Given the description of an element on the screen output the (x, y) to click on. 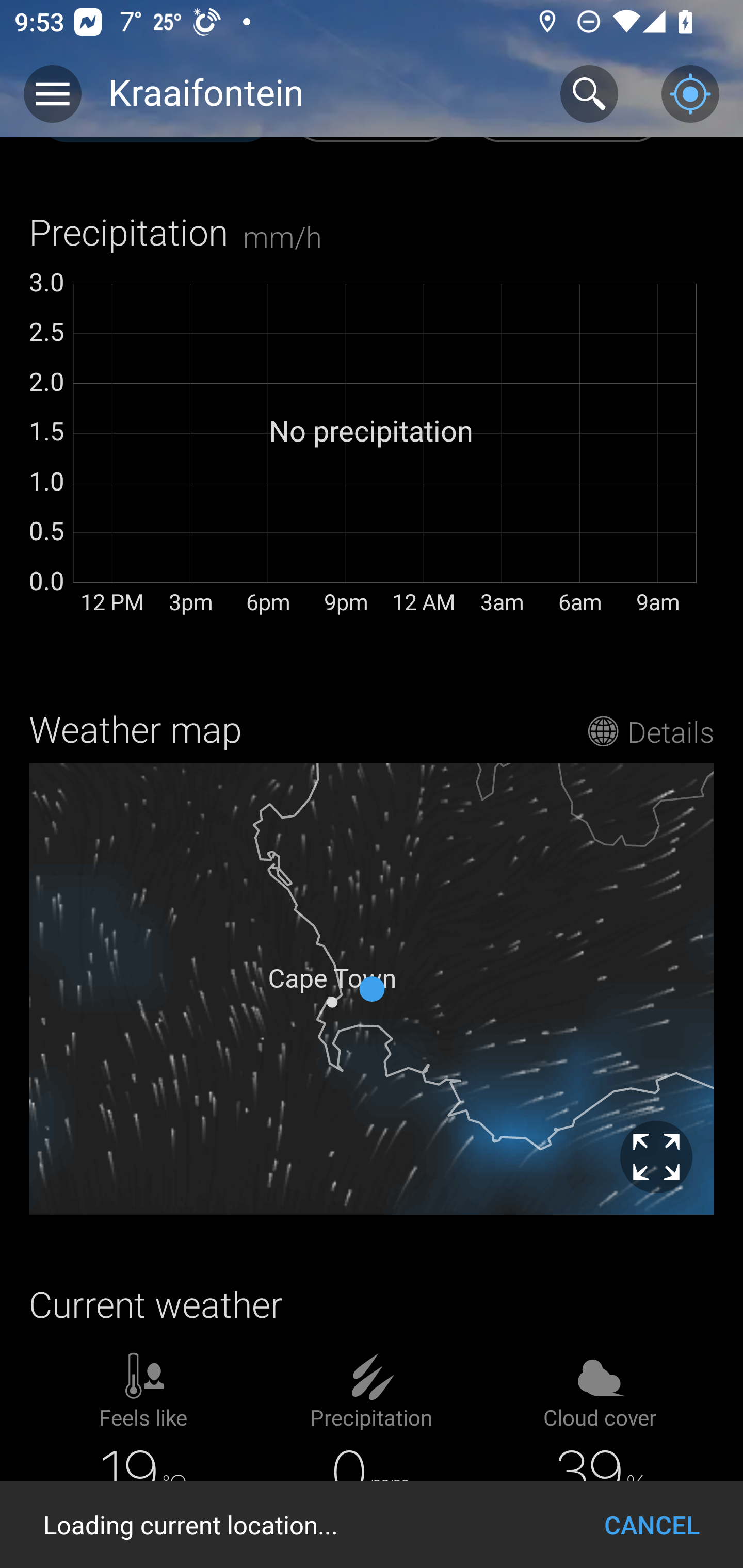
Loading current location... CANCEL (371, 1524)
CANCEL (651, 1524)
